Given the description of an element on the screen output the (x, y) to click on. 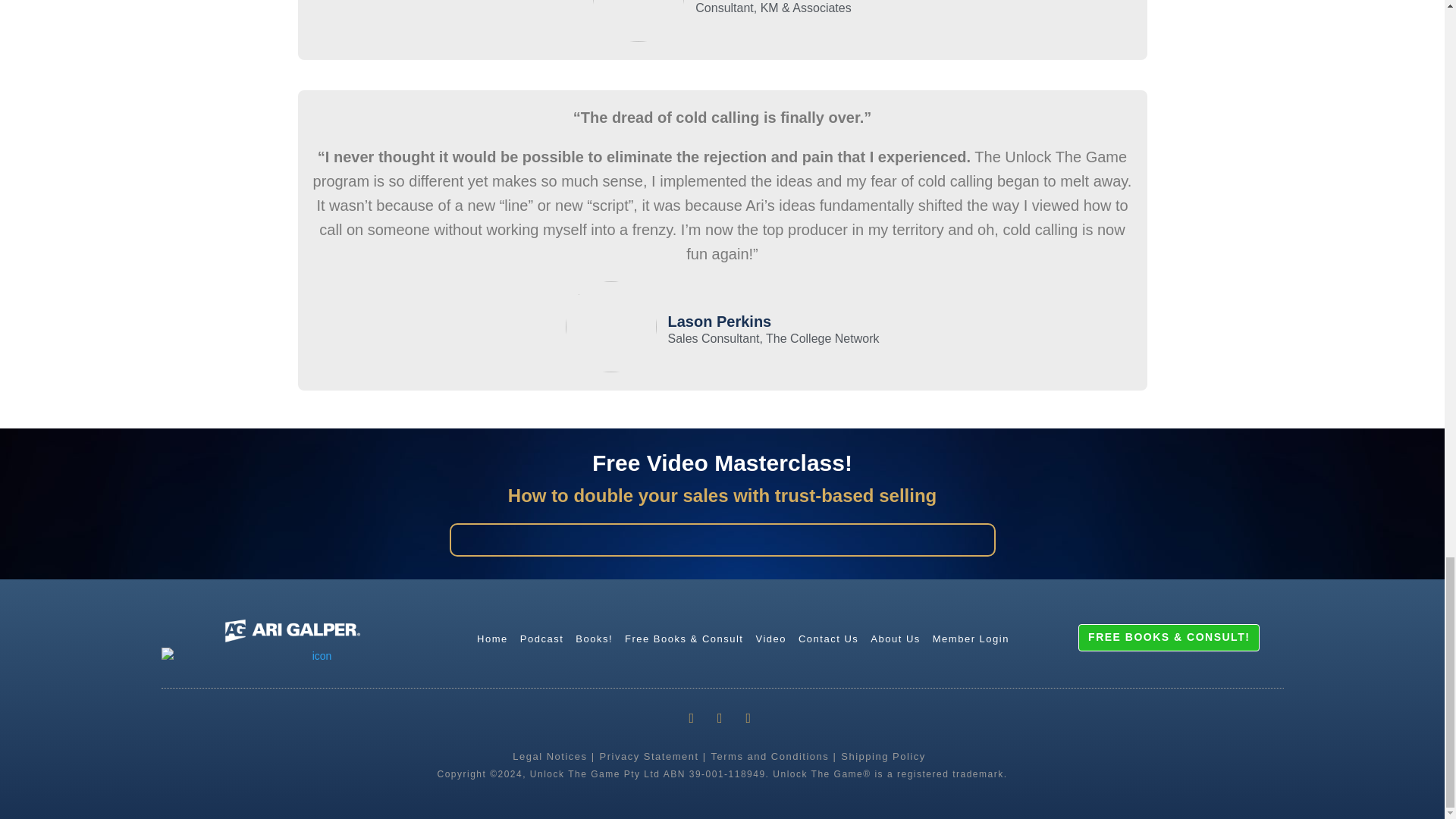
Home (491, 639)
Podcast (541, 639)
Books! (593, 639)
